Given the description of an element on the screen output the (x, y) to click on. 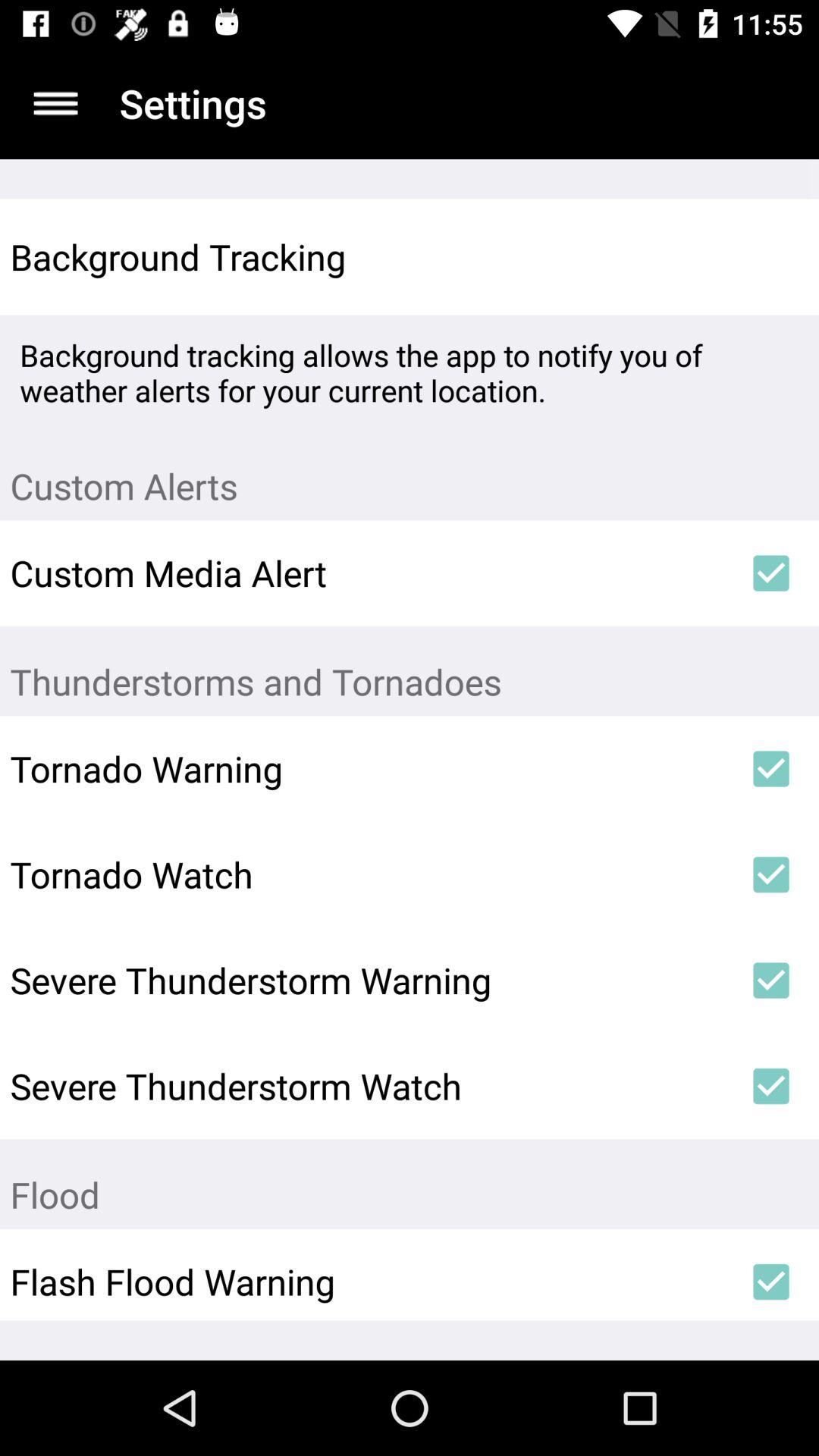
choose the app next to the settings app (55, 103)
